Given the description of an element on the screen output the (x, y) to click on. 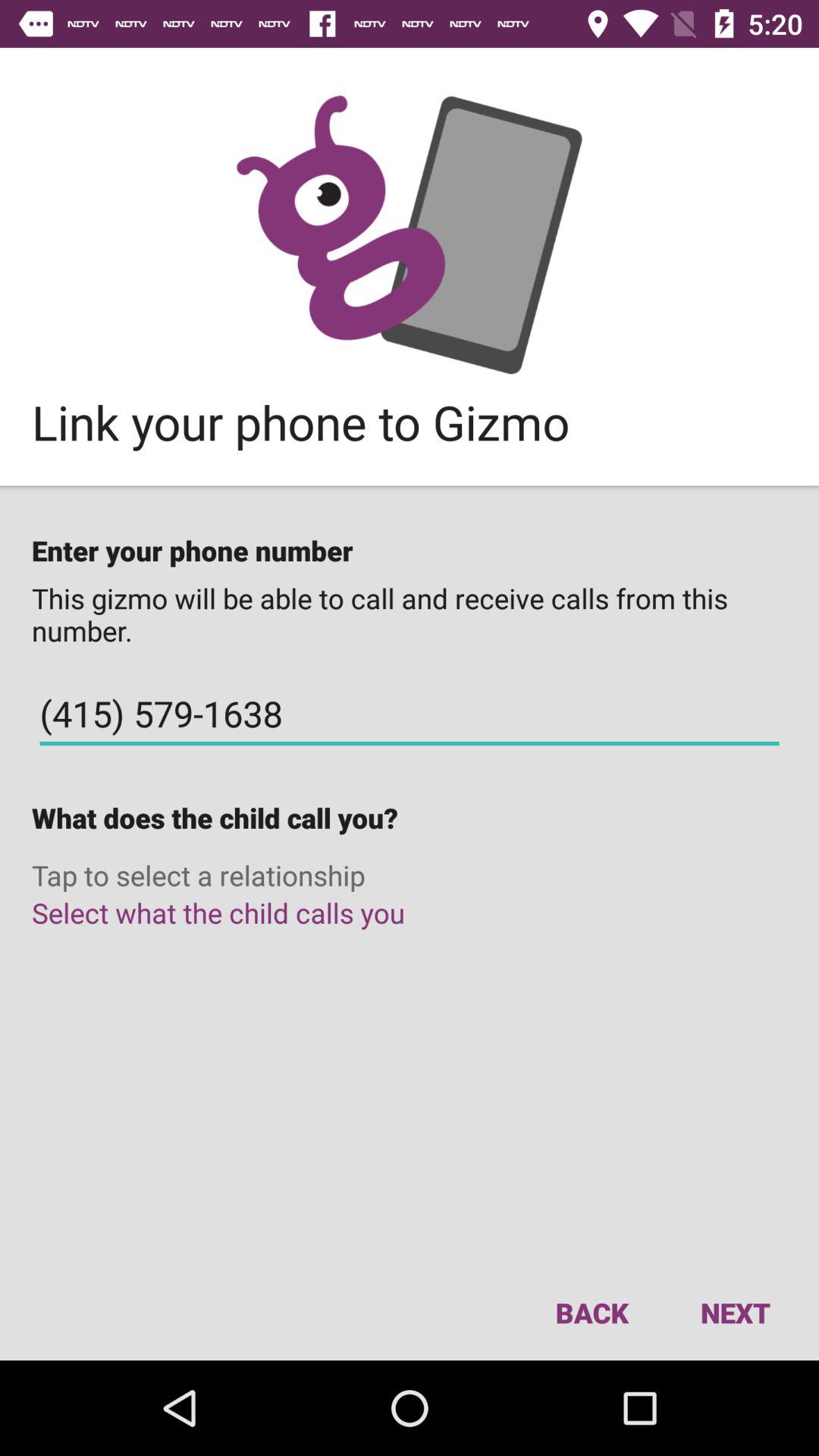
open the item below the select what the icon (591, 1312)
